Given the description of an element on the screen output the (x, y) to click on. 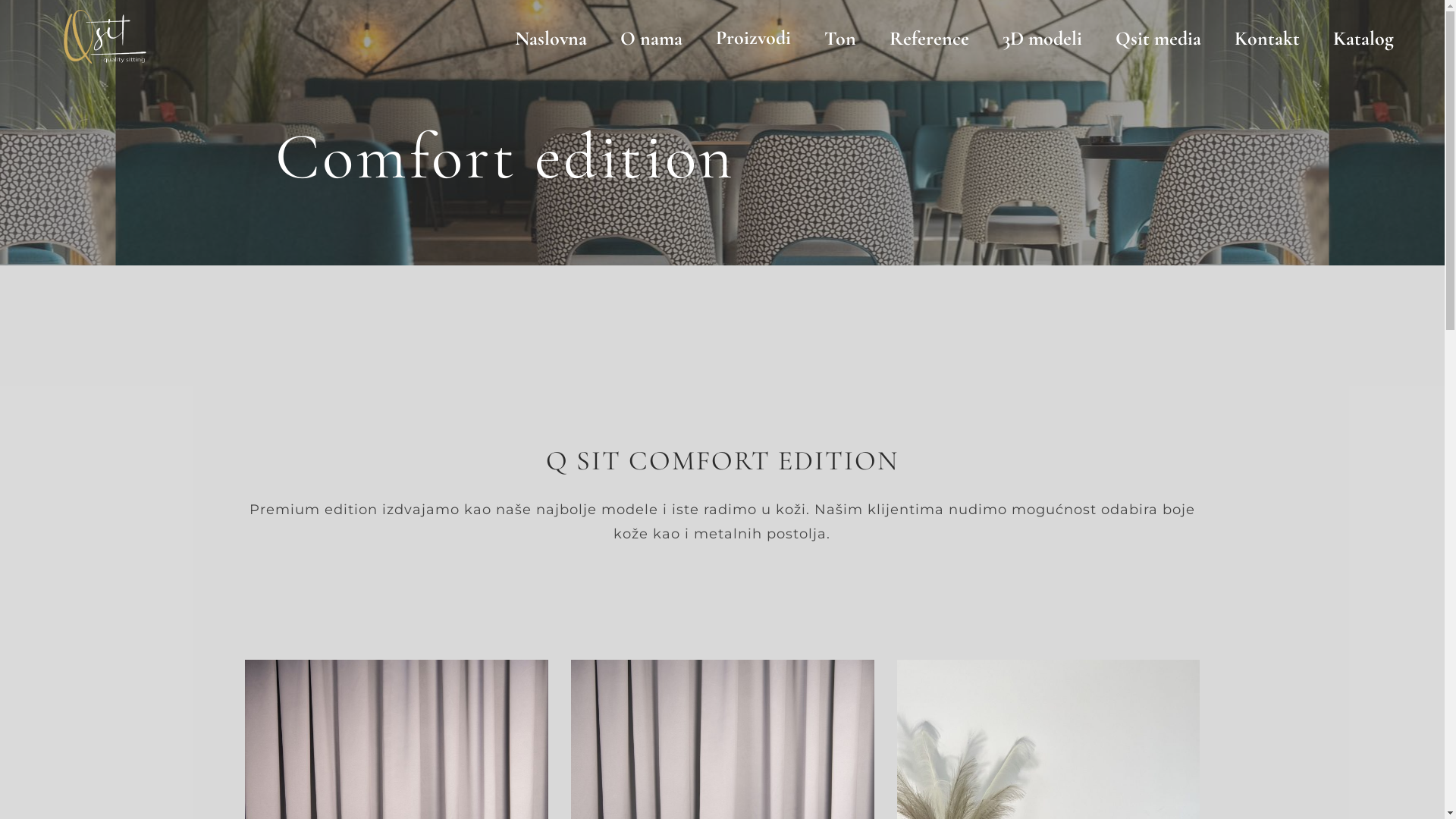
Ton Element type: text (839, 38)
Kontakt Element type: text (1266, 38)
Reference Element type: text (928, 38)
Katalog Element type: text (1363, 38)
3D modeli Element type: text (1041, 38)
O nama Element type: text (651, 38)
Naslovna Element type: text (550, 38)
Qsit media Element type: text (1157, 38)
Proizvodi Element type: text (753, 38)
